Given the description of an element on the screen output the (x, y) to click on. 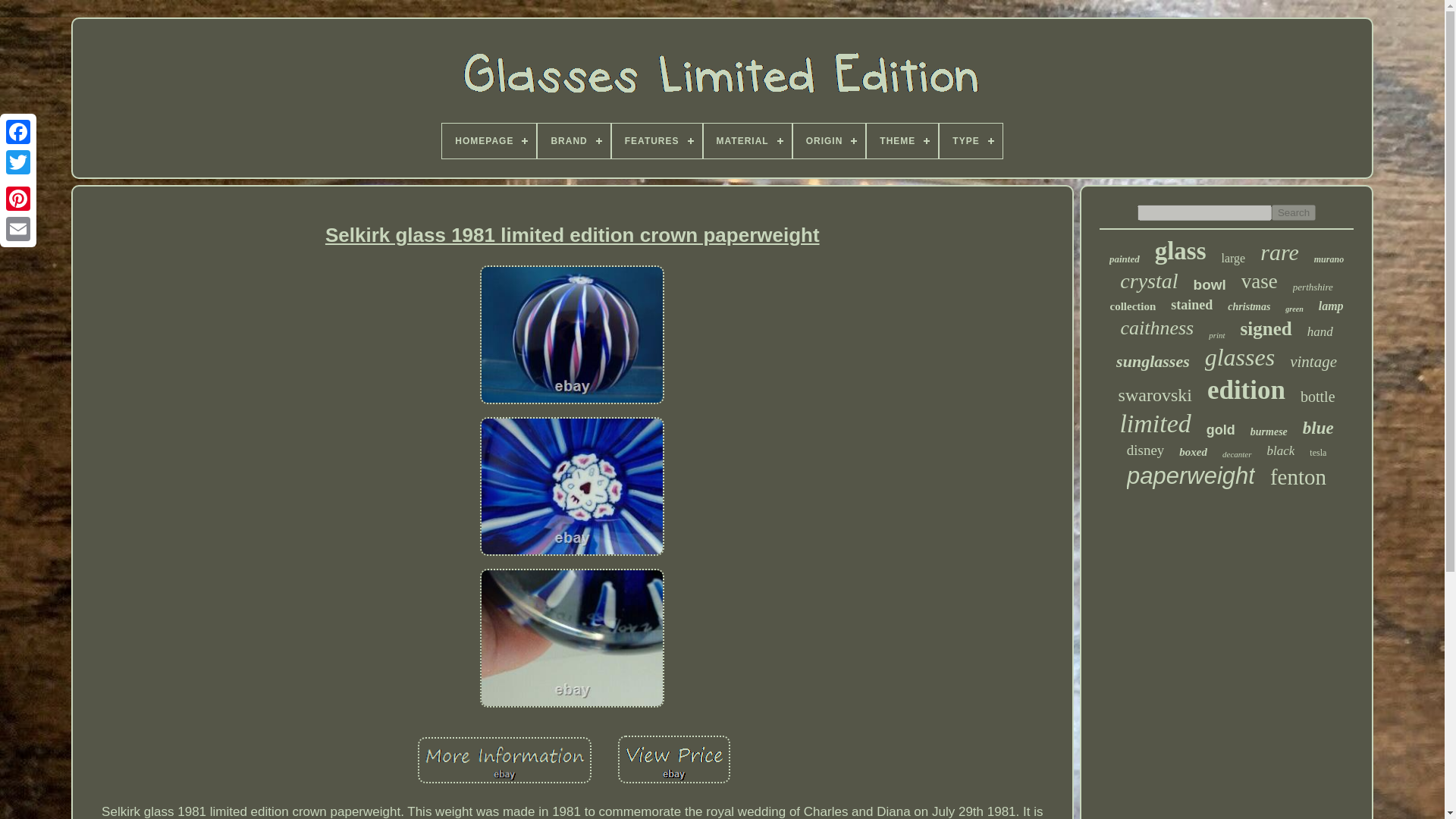
Selkirk glass 1981 limited edition crown paperweight (504, 759)
Selkirk glass 1981 limited edition crown paperweight (571, 334)
Selkirk Glass 1981 Limited Edition Crown Paperweight (571, 235)
Selkirk Glass 1981 Limited Edition Crown Paperweight (571, 336)
BRAND (573, 140)
Selkirk glass 1981 limited edition crown paperweight (571, 637)
Selkirk Glass 1981 Limited Edition Crown Paperweight (571, 639)
Selkirk Glass 1981 Limited Edition Crown Paperweight (503, 761)
Selkirk glass 1981 limited edition crown paperweight (571, 486)
Search (1293, 212)
FEATURES (656, 140)
Selkirk glass 1981 limited edition crown paperweight (673, 758)
Selkirk Glass 1981 Limited Edition Crown Paperweight (571, 488)
Selkirk Glass 1981 Limited Edition Crown Paperweight (673, 761)
HOMEPAGE (488, 140)
